Given the description of an element on the screen output the (x, y) to click on. 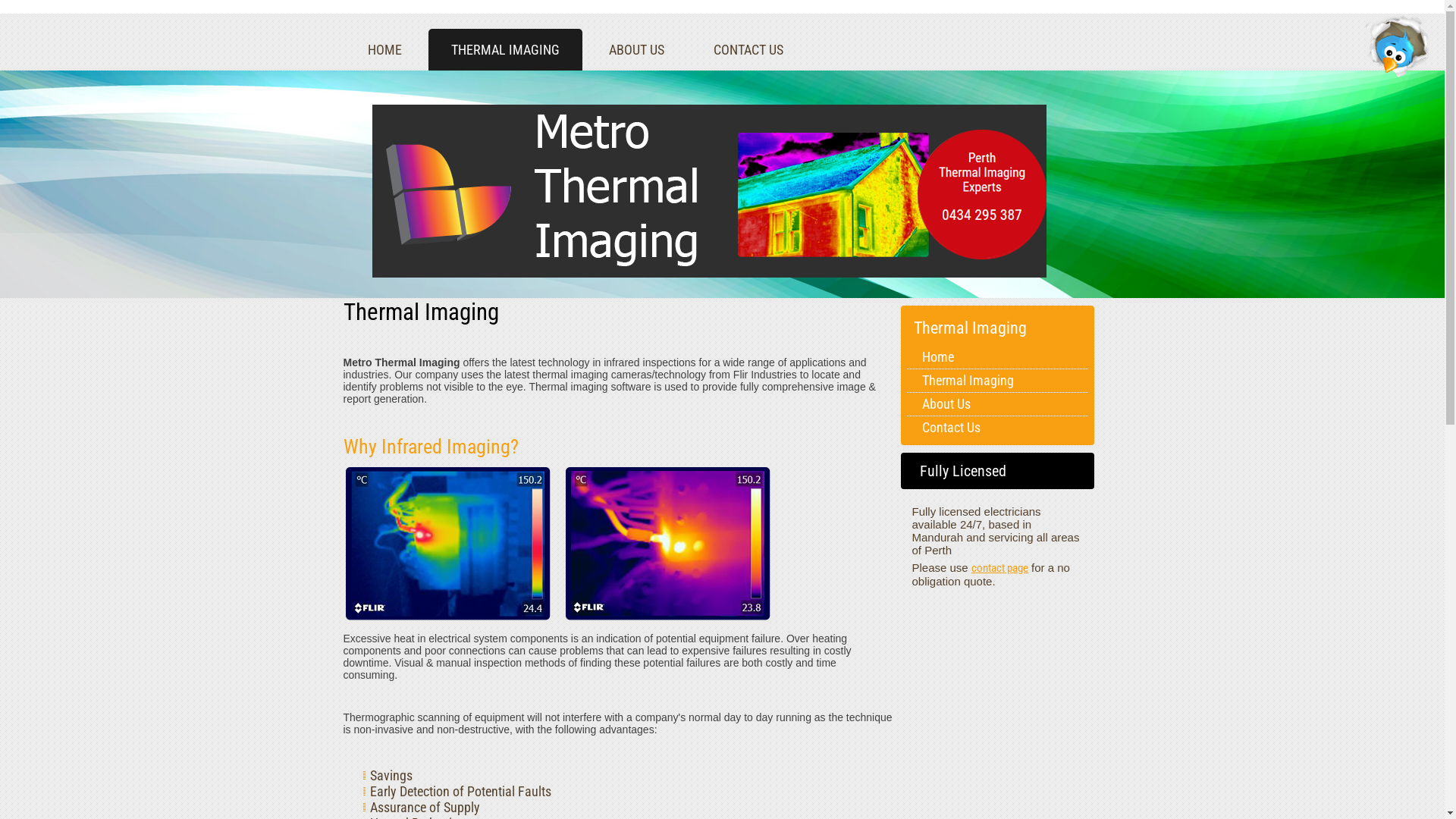
contact page Element type: text (999, 567)
Contact Us Element type: text (997, 427)
About Us Element type: text (997, 403)
Home Element type: text (997, 356)
HOME Element type: text (383, 49)
Follow Us On Twitter Element type: hover (1399, 45)
ABOUT US Element type: text (635, 49)
CONTACT US Element type: text (747, 49)
Thermal Imaging Element type: text (997, 380)
THERMAL IMAGING Element type: text (504, 49)
